Given the description of an element on the screen output the (x, y) to click on. 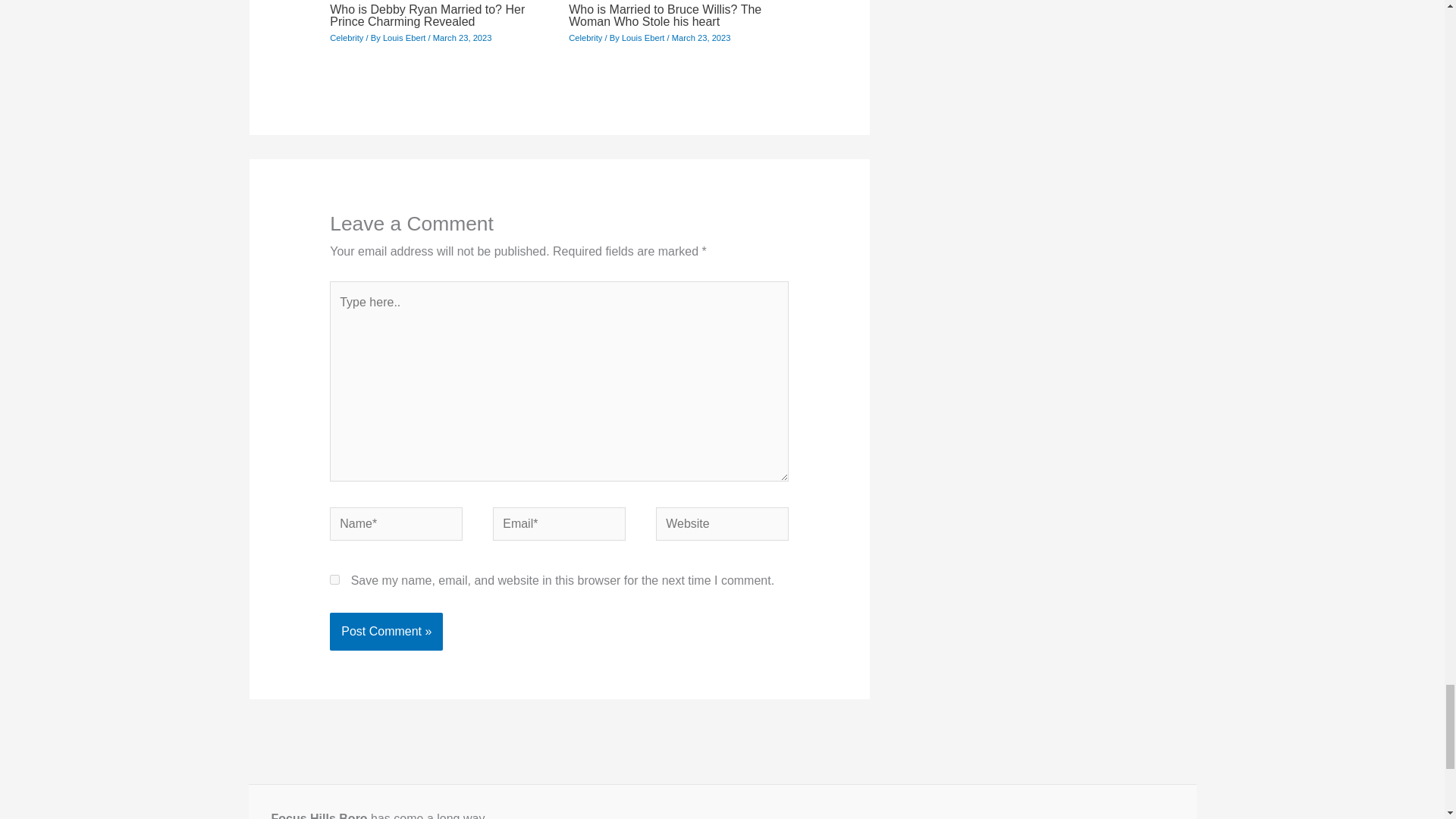
View all posts by Louis Ebert (643, 37)
yes (334, 579)
View all posts by Louis Ebert (405, 37)
